Given the description of an element on the screen output the (x, y) to click on. 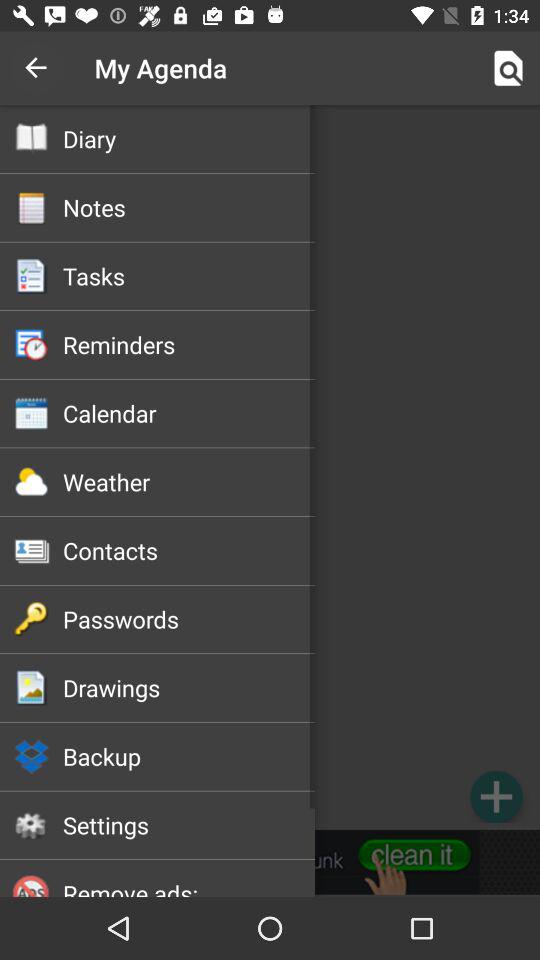
turn off the icon above the remove ads: (188, 825)
